Given the description of an element on the screen output the (x, y) to click on. 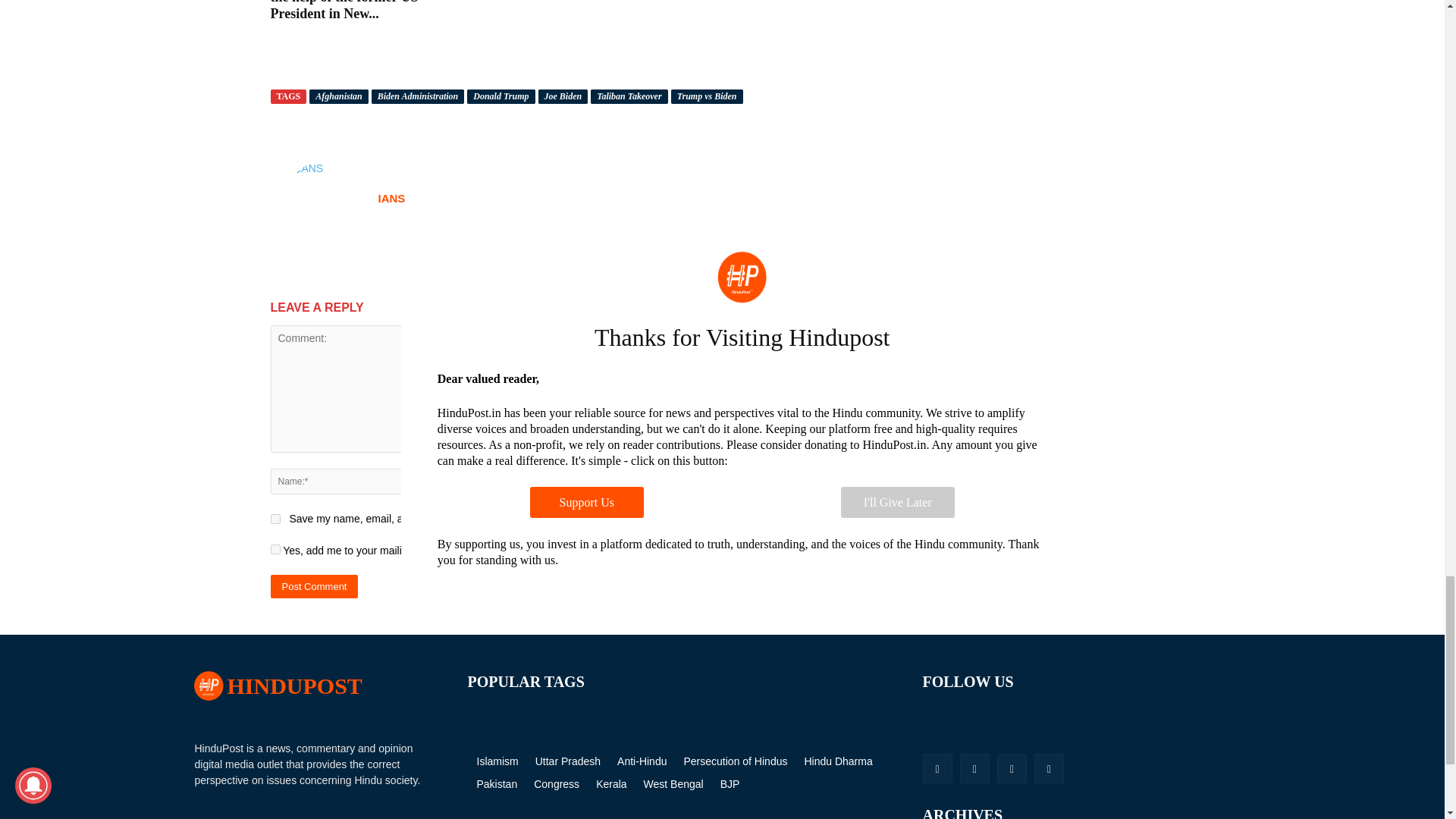
1 (274, 549)
Post Comment (313, 586)
yes (274, 519)
